Given the description of an element on the screen output the (x, y) to click on. 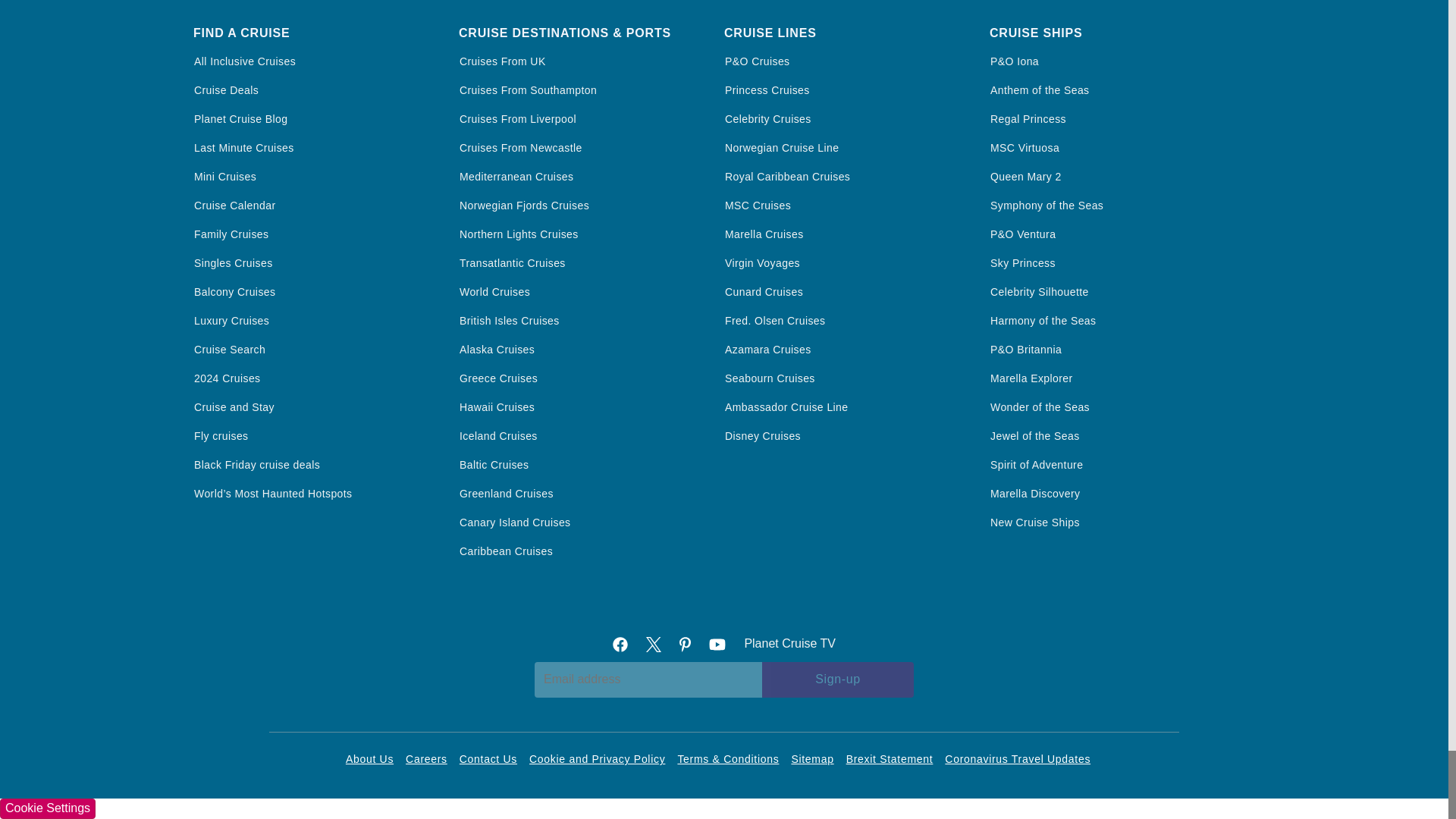
Sign-up (837, 679)
Facebook (626, 643)
Youtube (723, 643)
Signup (837, 679)
X (659, 643)
Pinterest (691, 643)
